Given the description of an element on the screen output the (x, y) to click on. 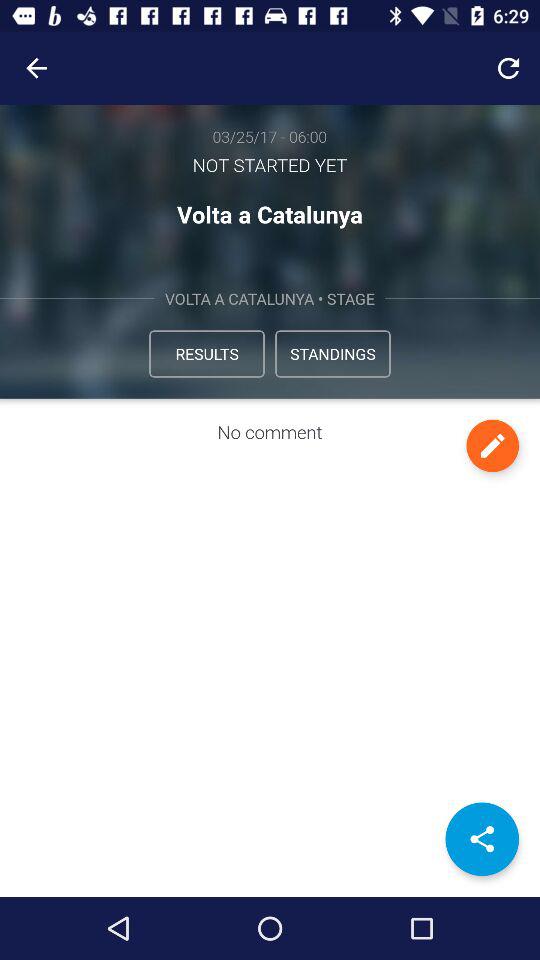
compose a comment (492, 445)
